Given the description of an element on the screen output the (x, y) to click on. 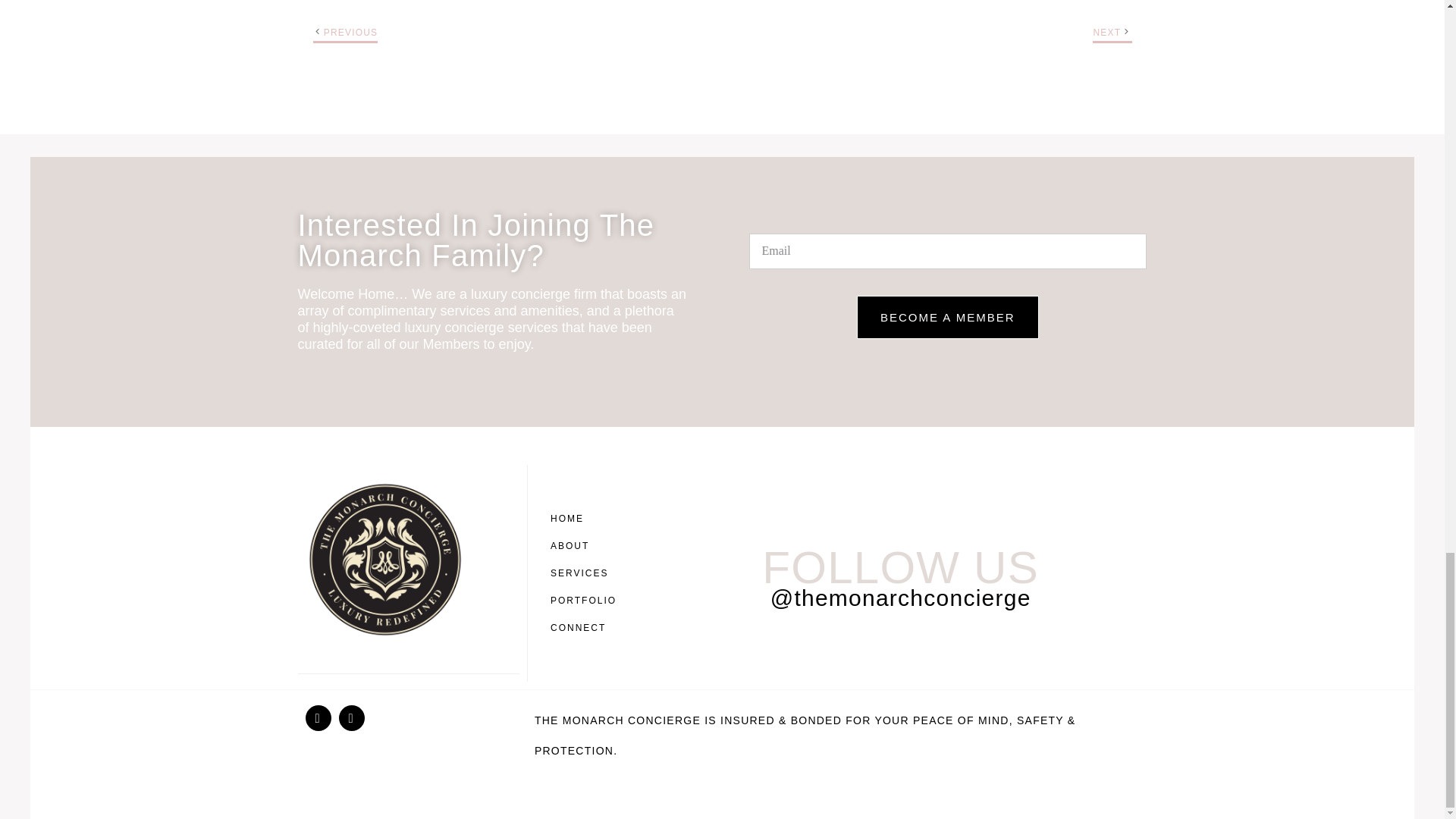
ABOUT (587, 545)
HOME (587, 518)
PREVIOUS (350, 32)
SERVICES (587, 573)
NEXT (1107, 32)
CONNECT (587, 627)
BECOME A MEMBER (948, 317)
PORTFOLIO (587, 600)
